Given the description of an element on the screen output the (x, y) to click on. 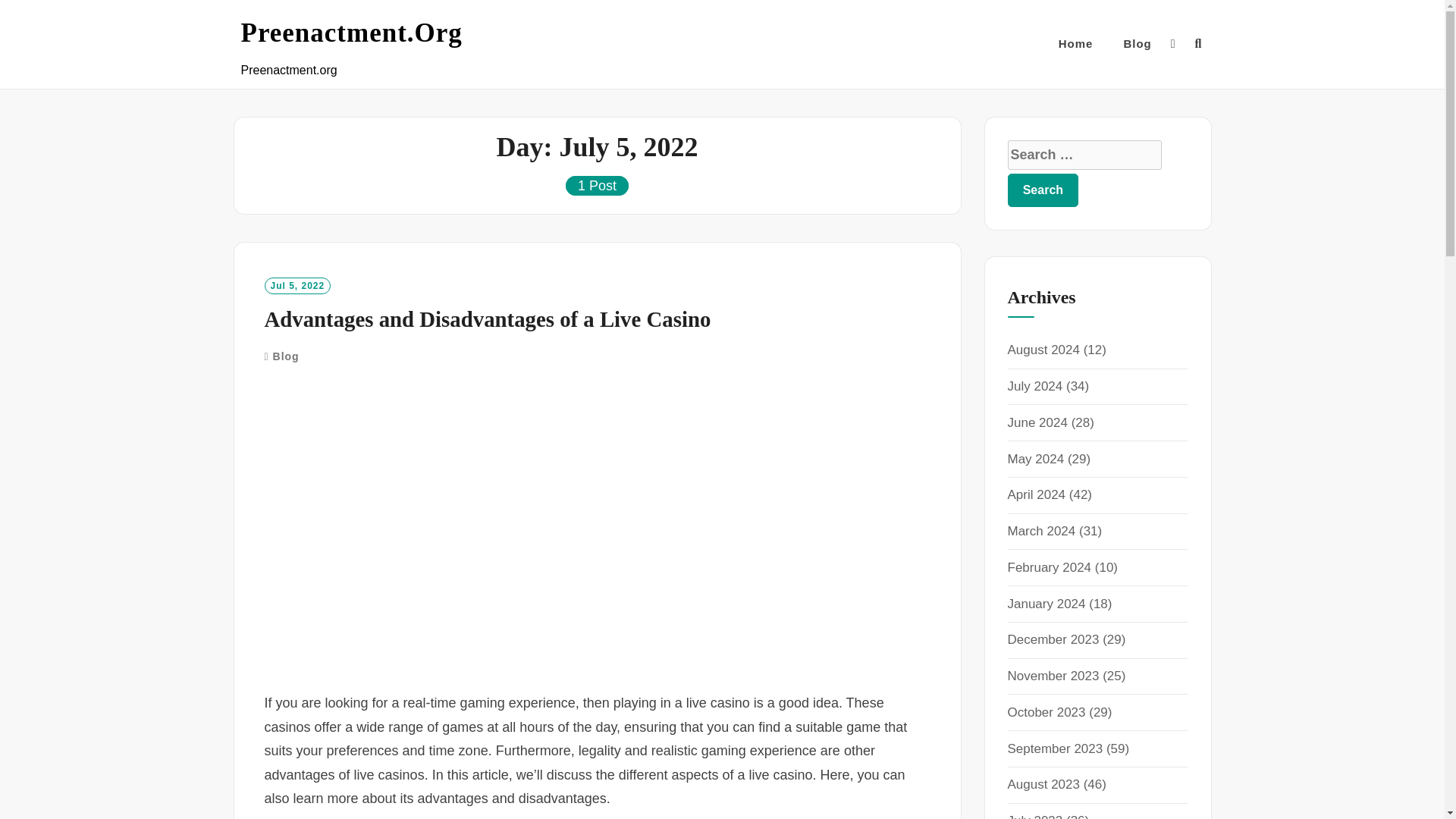
June 2024 (1037, 422)
August 2023 (1042, 784)
December 2023 (1053, 639)
October 2023 (1045, 712)
March 2024 (1041, 531)
July 2024 (1034, 386)
August 2024 (1042, 350)
February 2024 (1048, 567)
Preenactment.Org (352, 33)
September 2023 (1054, 748)
